Given the description of an element on the screen output the (x, y) to click on. 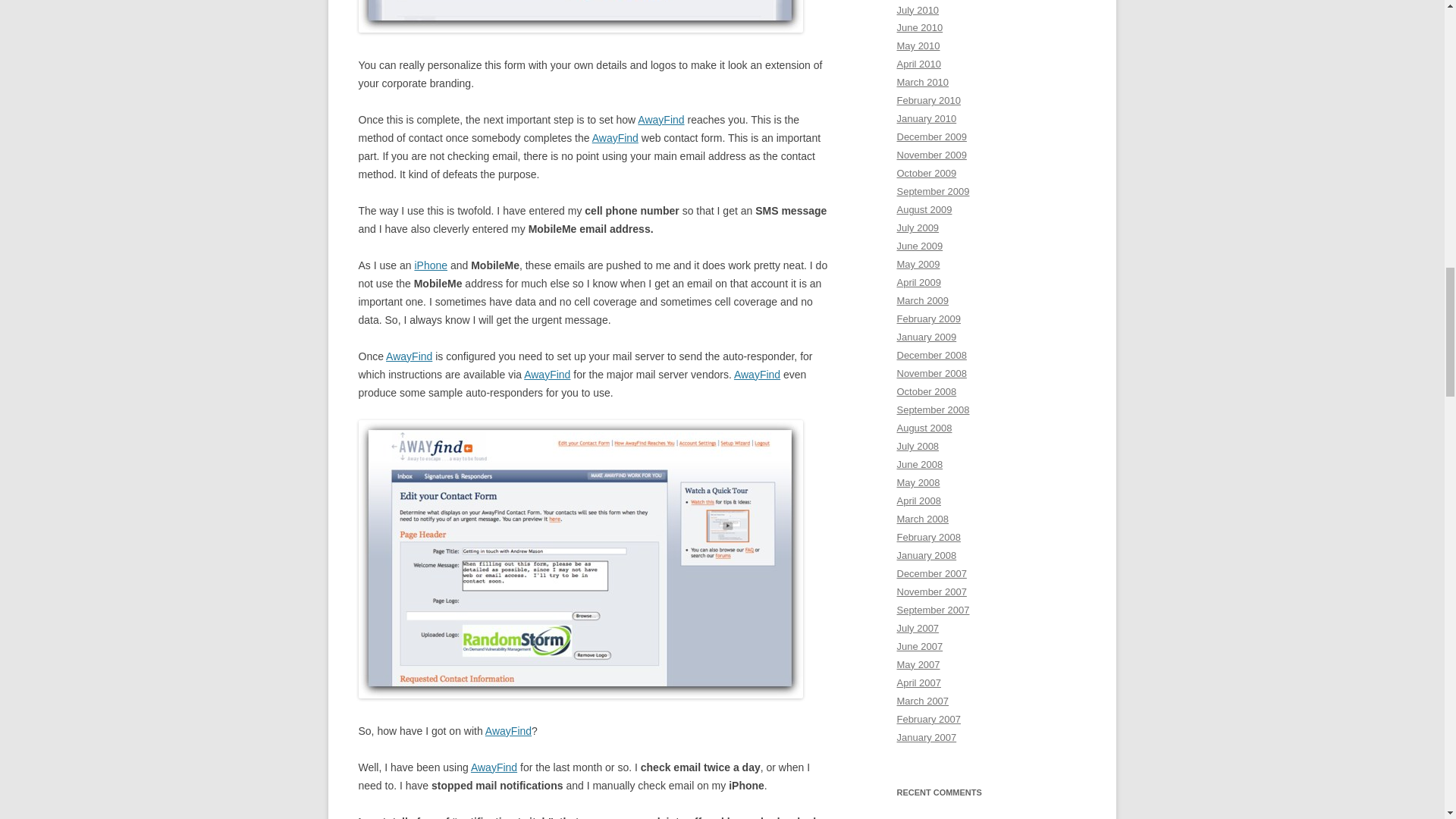
AwayFind (756, 374)
AwayFind (408, 356)
iPhone (429, 265)
AwayFind (615, 137)
AwayFind (493, 767)
AwayFind (507, 730)
AwayFind (547, 374)
AwayFind (660, 119)
